Given the description of an element on the screen output the (x, y) to click on. 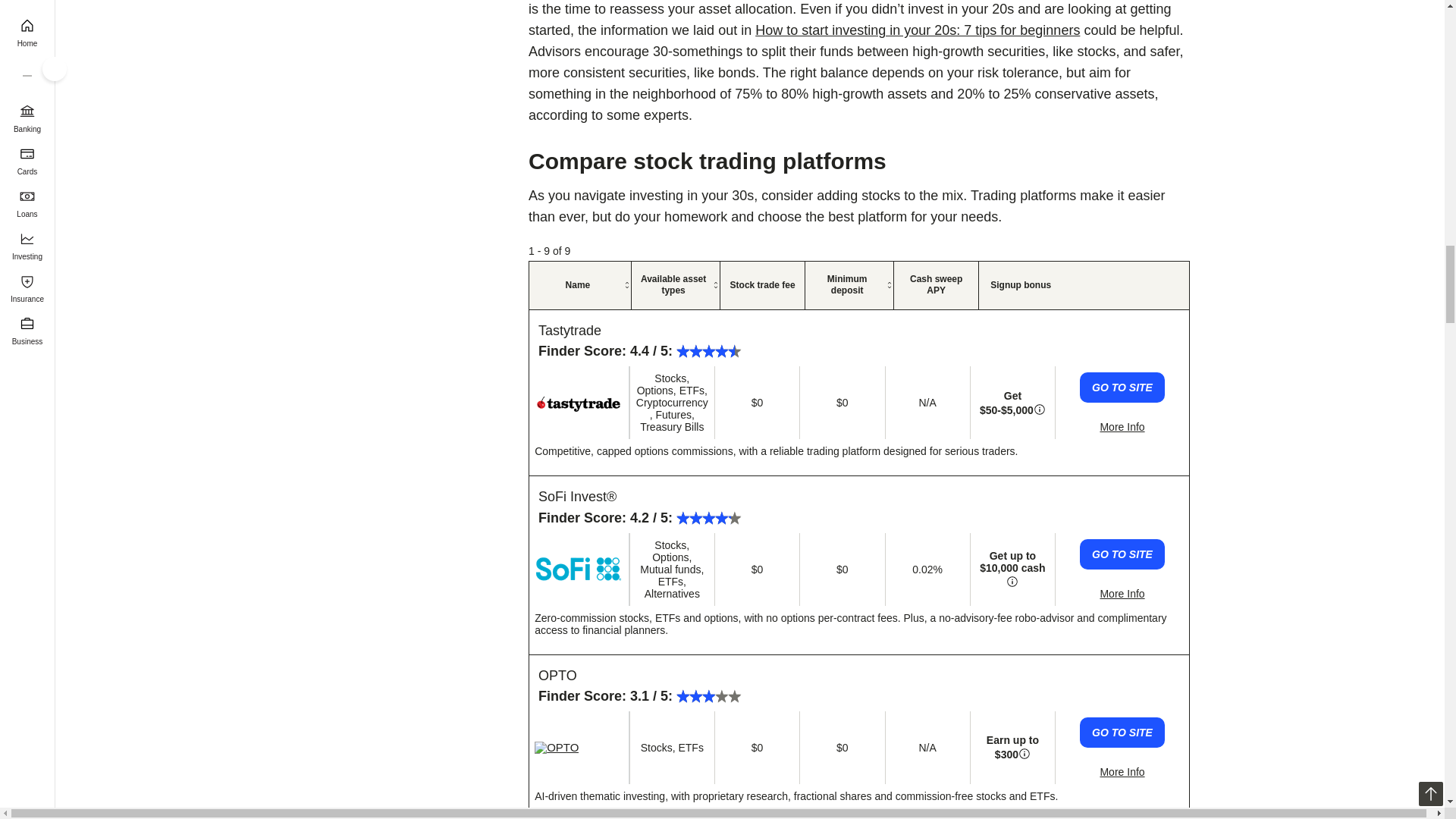
Read our review of this product (578, 402)
Read our review of this product (569, 330)
Apply Now For The Tastytrade (1122, 387)
Read our review of this product (576, 496)
Read our review of this product (578, 568)
Read our review of this product (578, 747)
Read More About The Tastytrade (1122, 426)
Apply Now For The OPTO (1122, 732)
Read our review of this product (557, 675)
